Given the description of an element on the screen output the (x, y) to click on. 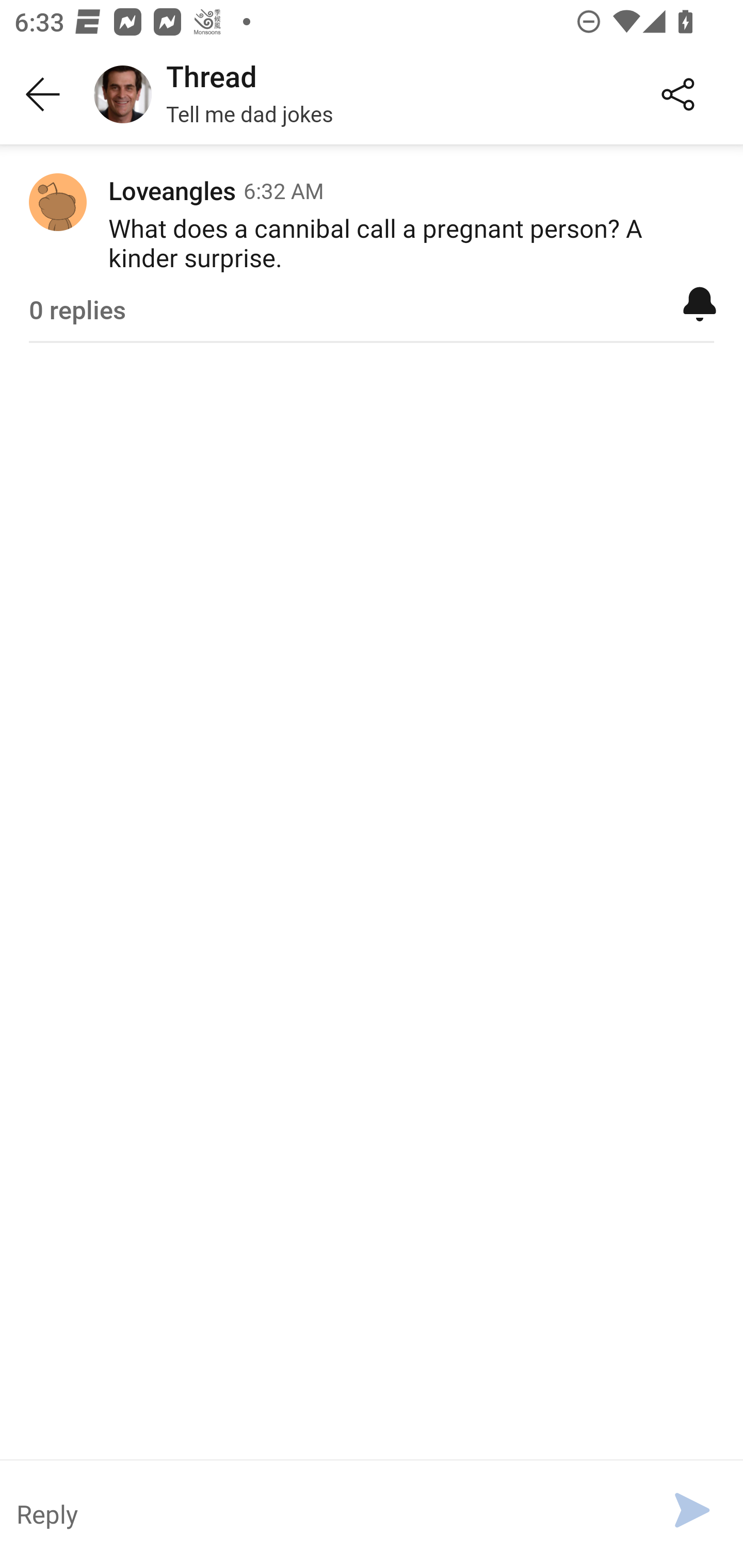
Back (43, 94)
Share (677, 94)
Mute (699, 303)
Send message (692, 1510)
Message Reply (324, 1513)
